Given the description of an element on the screen output the (x, y) to click on. 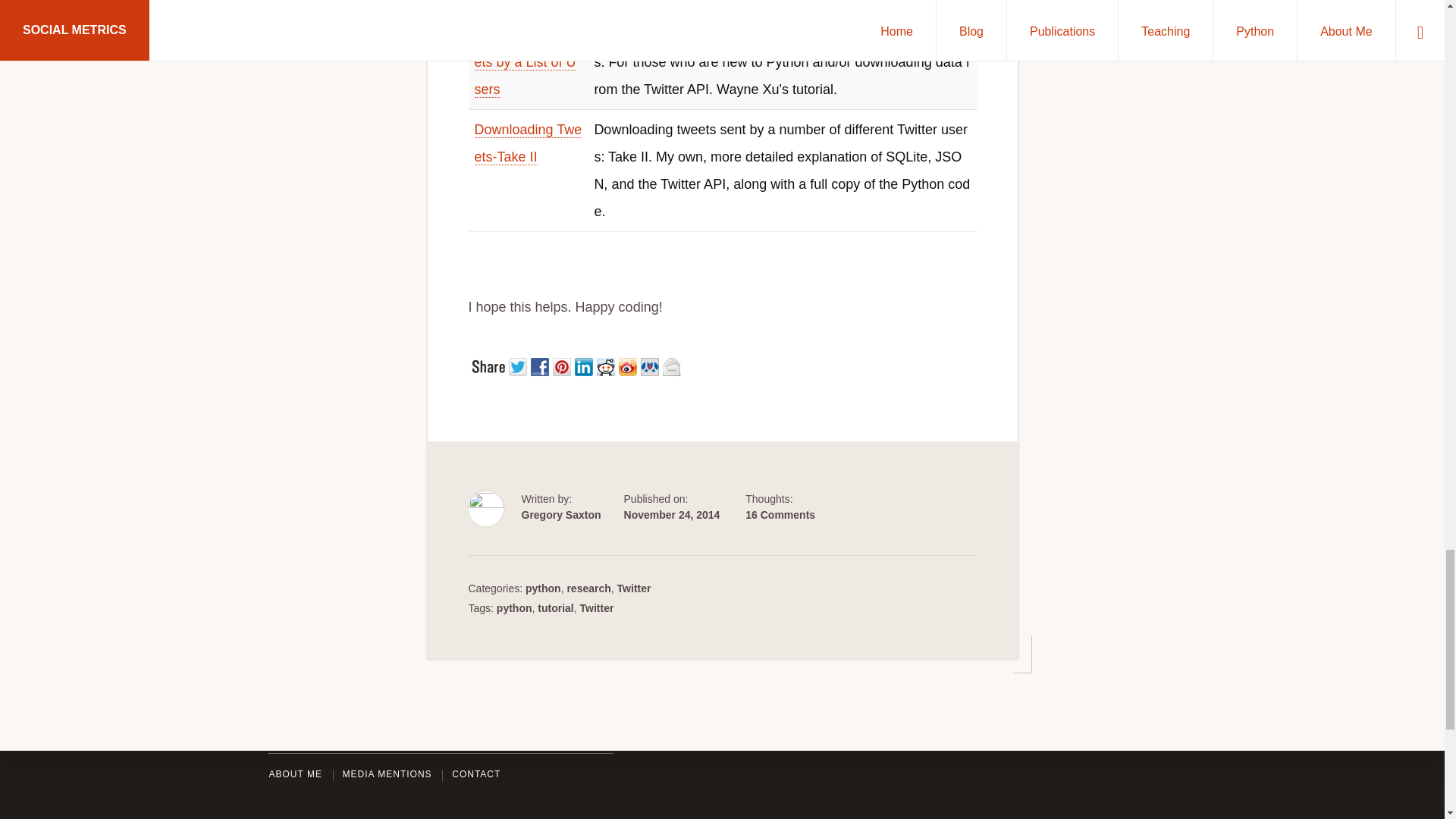
Linkedin (585, 364)
python (514, 607)
Twitter (518, 364)
research (588, 588)
Downloading Tweets by a List of Users (528, 62)
Renren (651, 364)
16 Comments (780, 514)
Email (673, 364)
Sina Weibo (629, 364)
Downloading Tweets-Take II (528, 143)
python (542, 588)
Gregory Saxton (561, 514)
Downloading Hashtag Tweets (527, 1)
Pinterest (562, 364)
Reddit (606, 364)
